Given the description of an element on the screen output the (x, y) to click on. 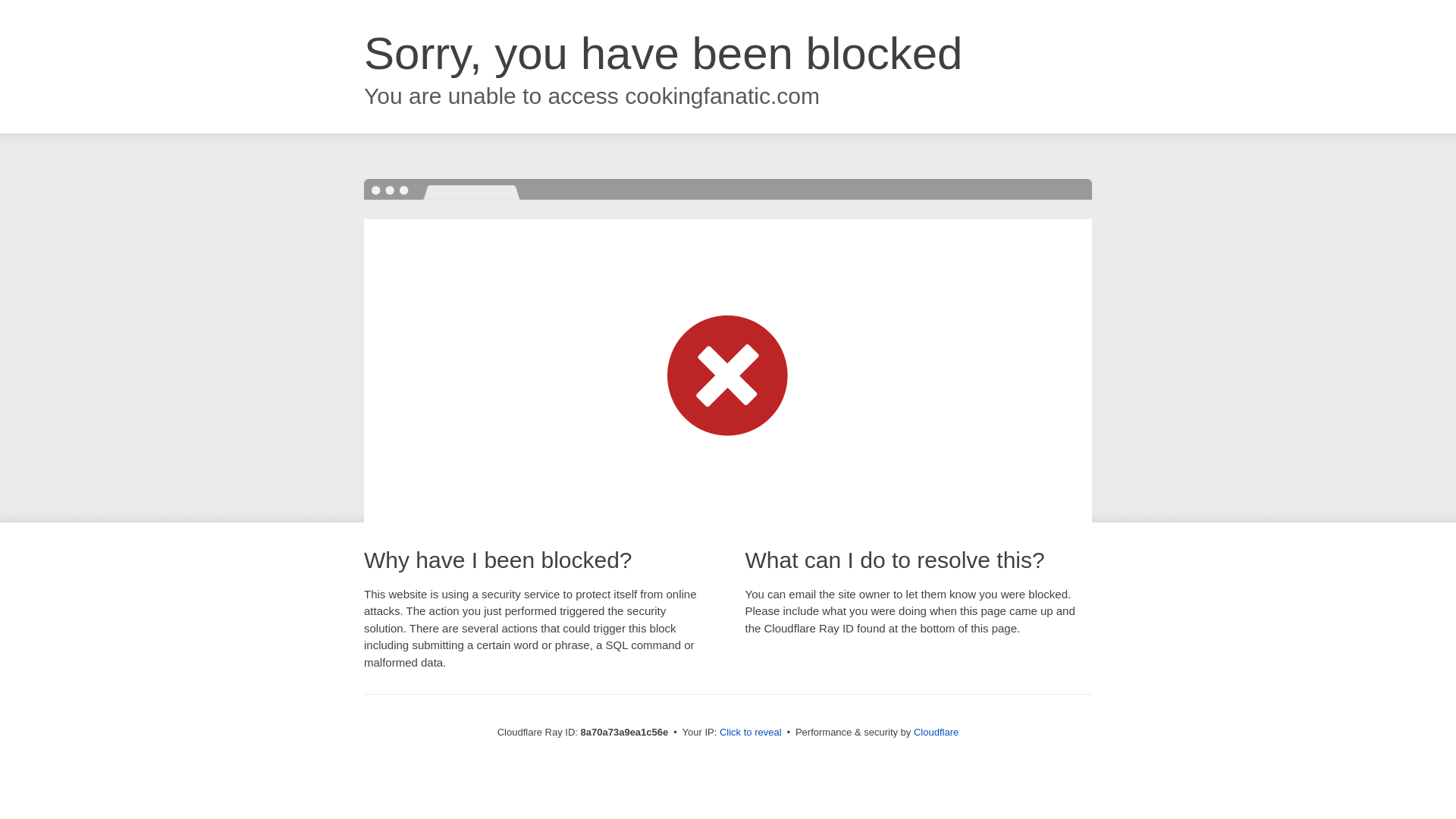
Click to reveal (750, 732)
Cloudflare (936, 731)
